Given the description of an element on the screen output the (x, y) to click on. 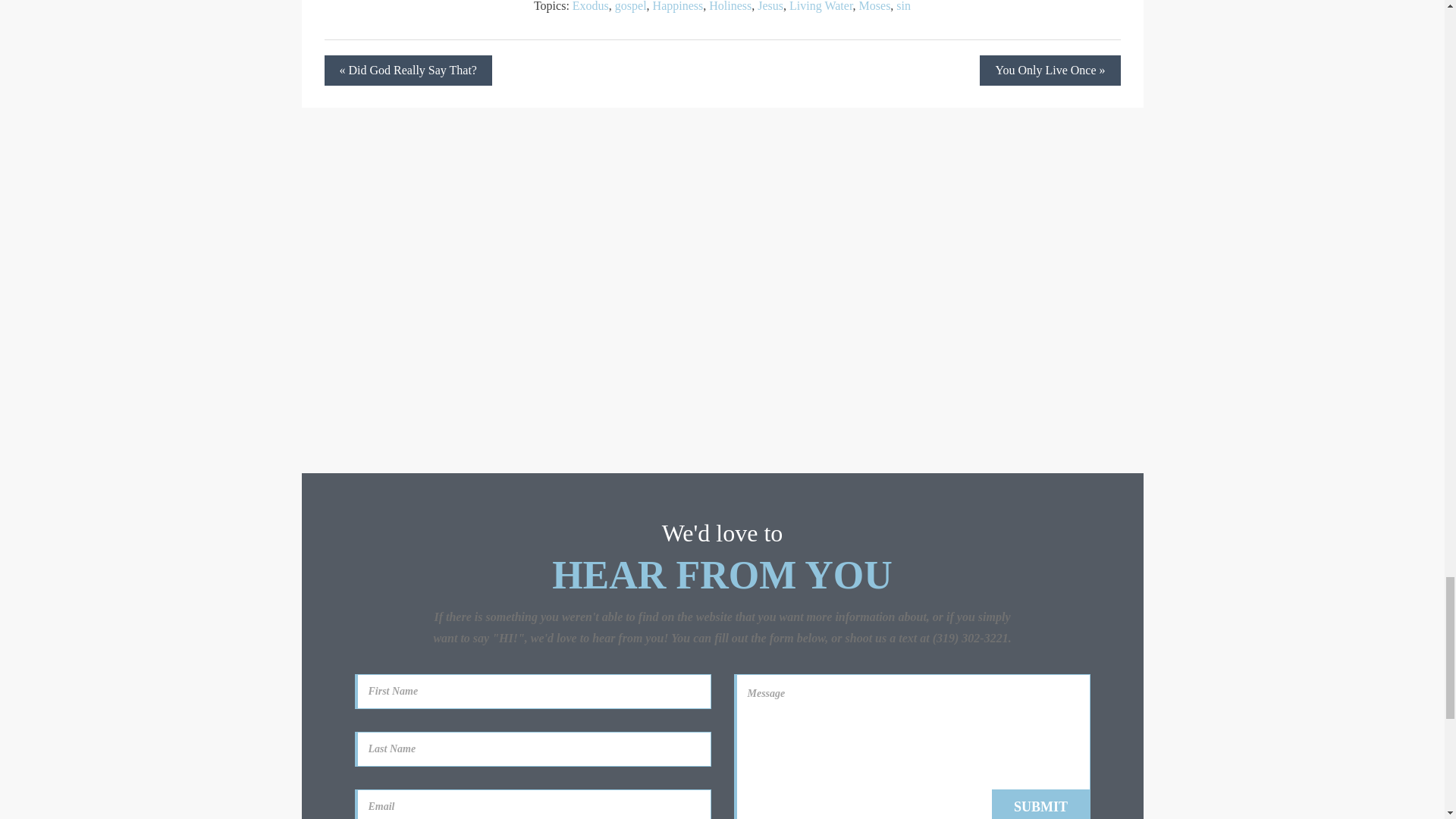
Living Water (821, 6)
Happiness (677, 6)
Submit (1040, 804)
sin (903, 6)
Exodus (590, 6)
Jesus (770, 6)
gospel (630, 6)
Submit (1040, 804)
Holiness (730, 6)
Moses (875, 6)
